Given the description of an element on the screen output the (x, y) to click on. 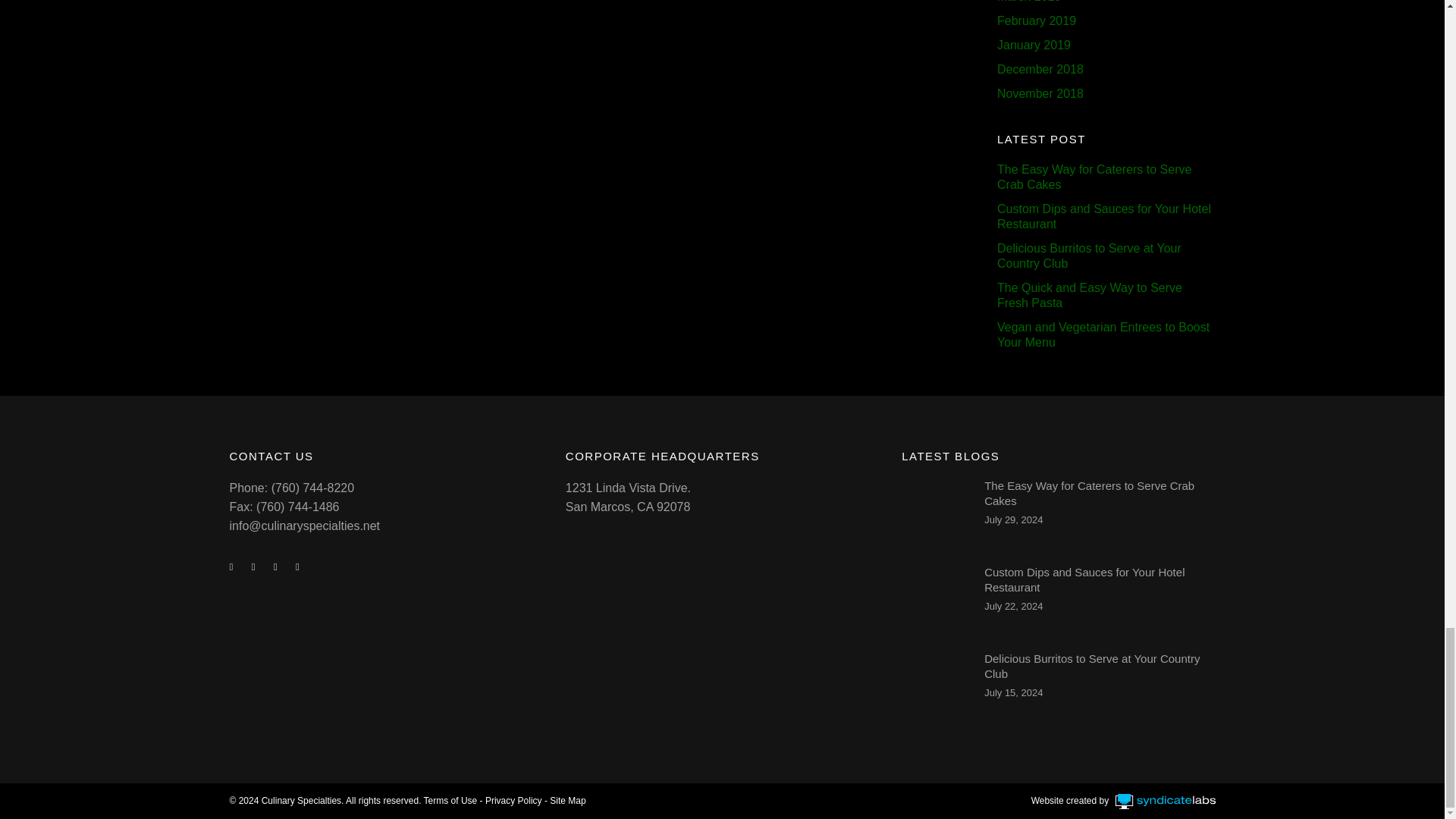
The Easy Way for Caterers to Serve Crab Cakes (933, 510)
Custom Dips and Sauces for Your Hotel Restaurant (933, 596)
The Easy Way for Caterers to Serve Crab Cakes (1088, 492)
